Given the description of an element on the screen output the (x, y) to click on. 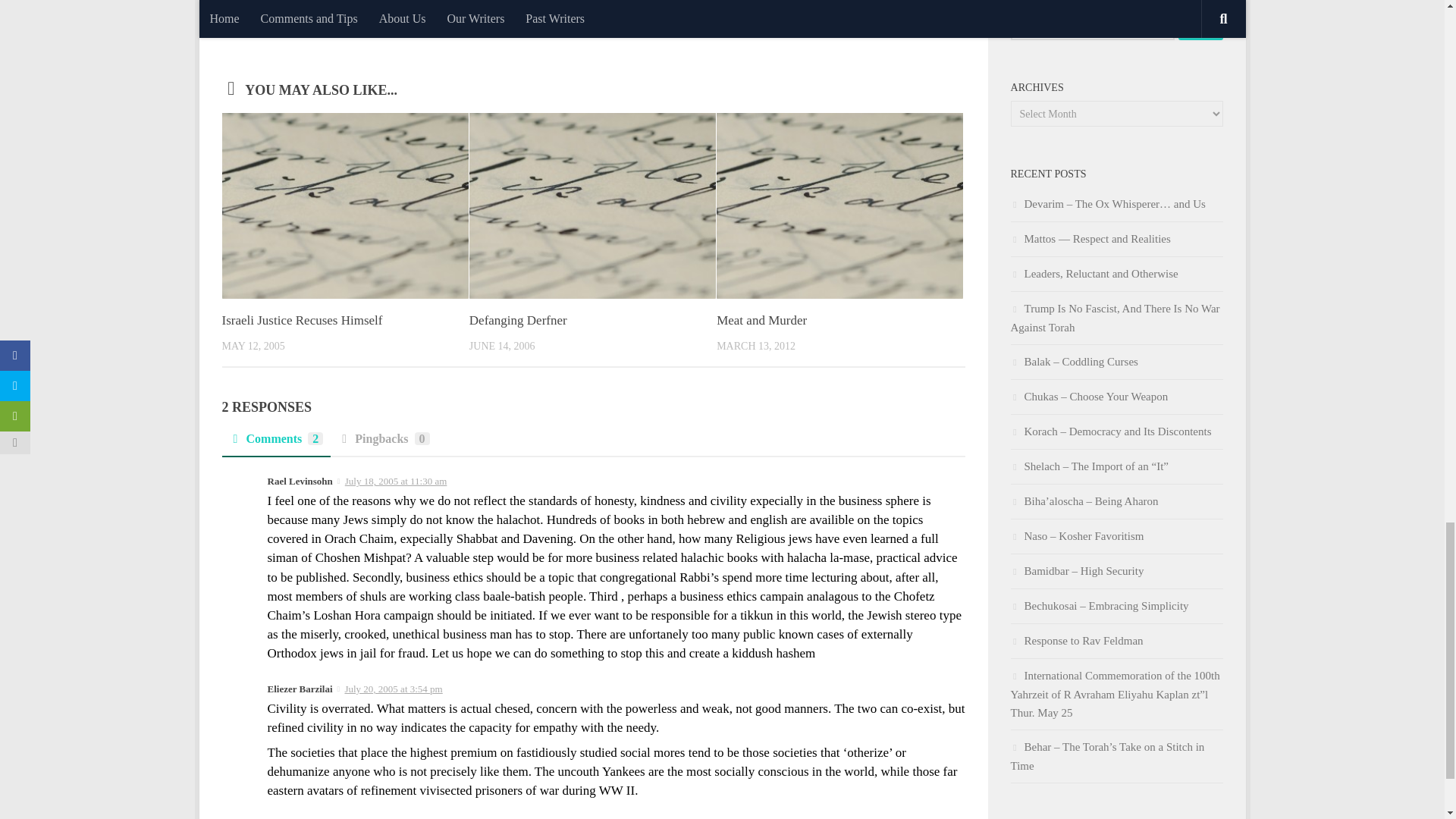
July 18, 2005 at 11:30 am (395, 480)
Israeli Justice Recuses Himself (301, 319)
Search (1200, 25)
Meat and Murder (761, 319)
July 20, 2005 at 3:54 pm (392, 688)
Search (1200, 25)
Comments2 (275, 443)
Pingbacks0 (383, 443)
Defanging Derfner (517, 319)
